Given the description of an element on the screen output the (x, y) to click on. 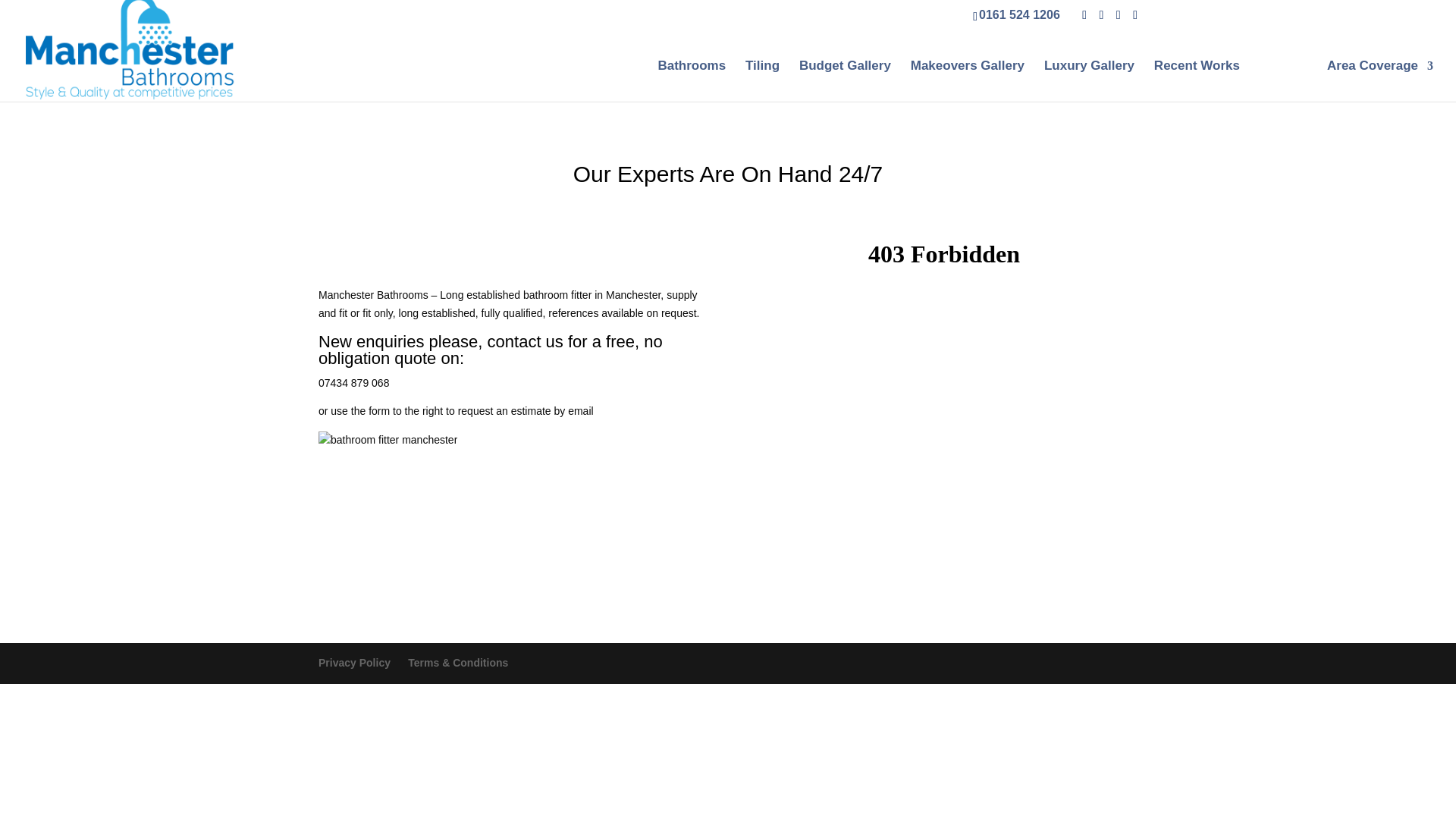
Recent Works (1197, 80)
Budget Gallery (845, 80)
Bathrooms (691, 80)
Area Coverage (1379, 80)
Luxury Gallery (1088, 80)
Contact (1283, 80)
Makeovers Gallery (968, 80)
